Given the description of an element on the screen output the (x, y) to click on. 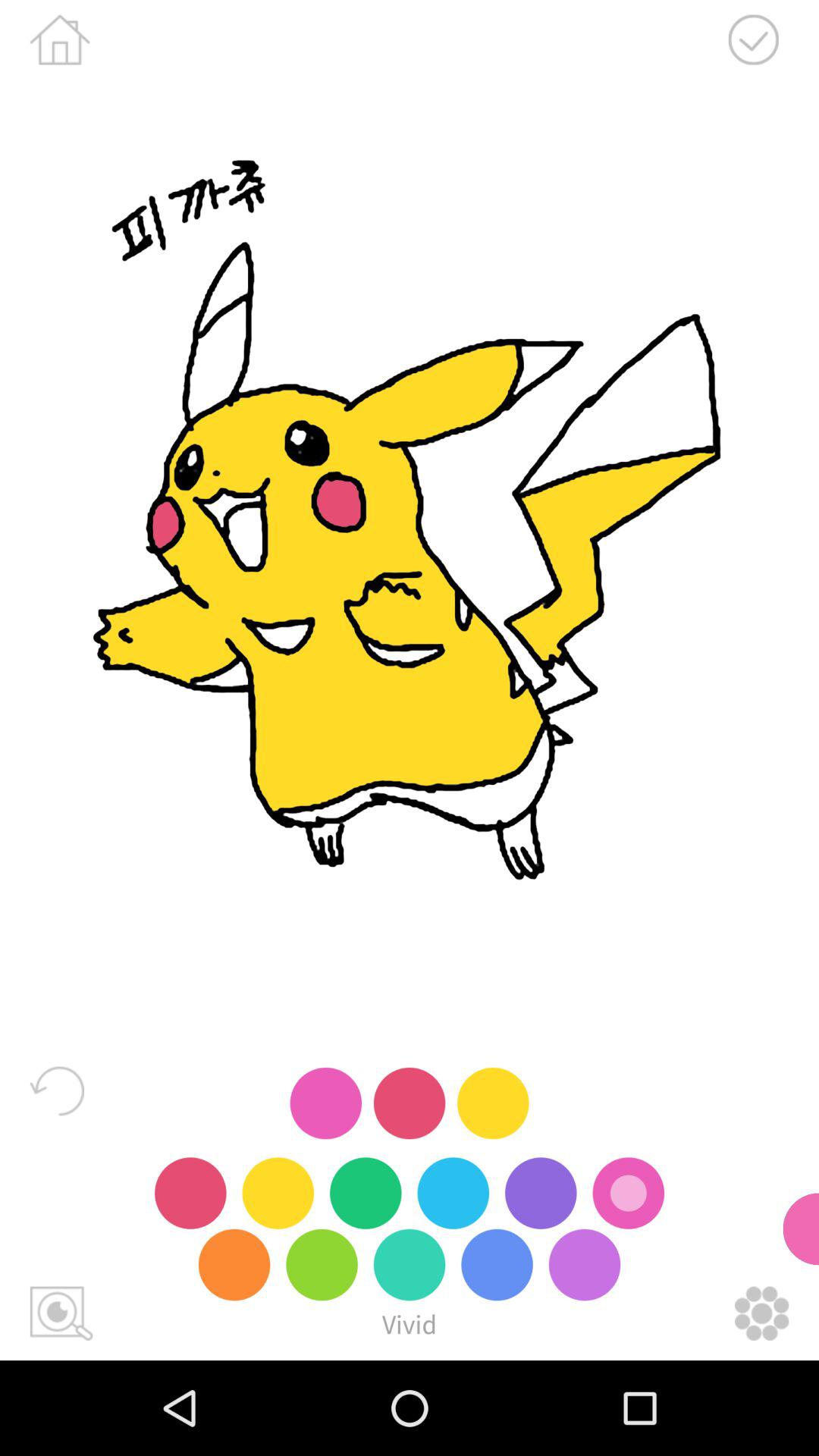
edit this drawing (761, 1313)
